Given the description of an element on the screen output the (x, y) to click on. 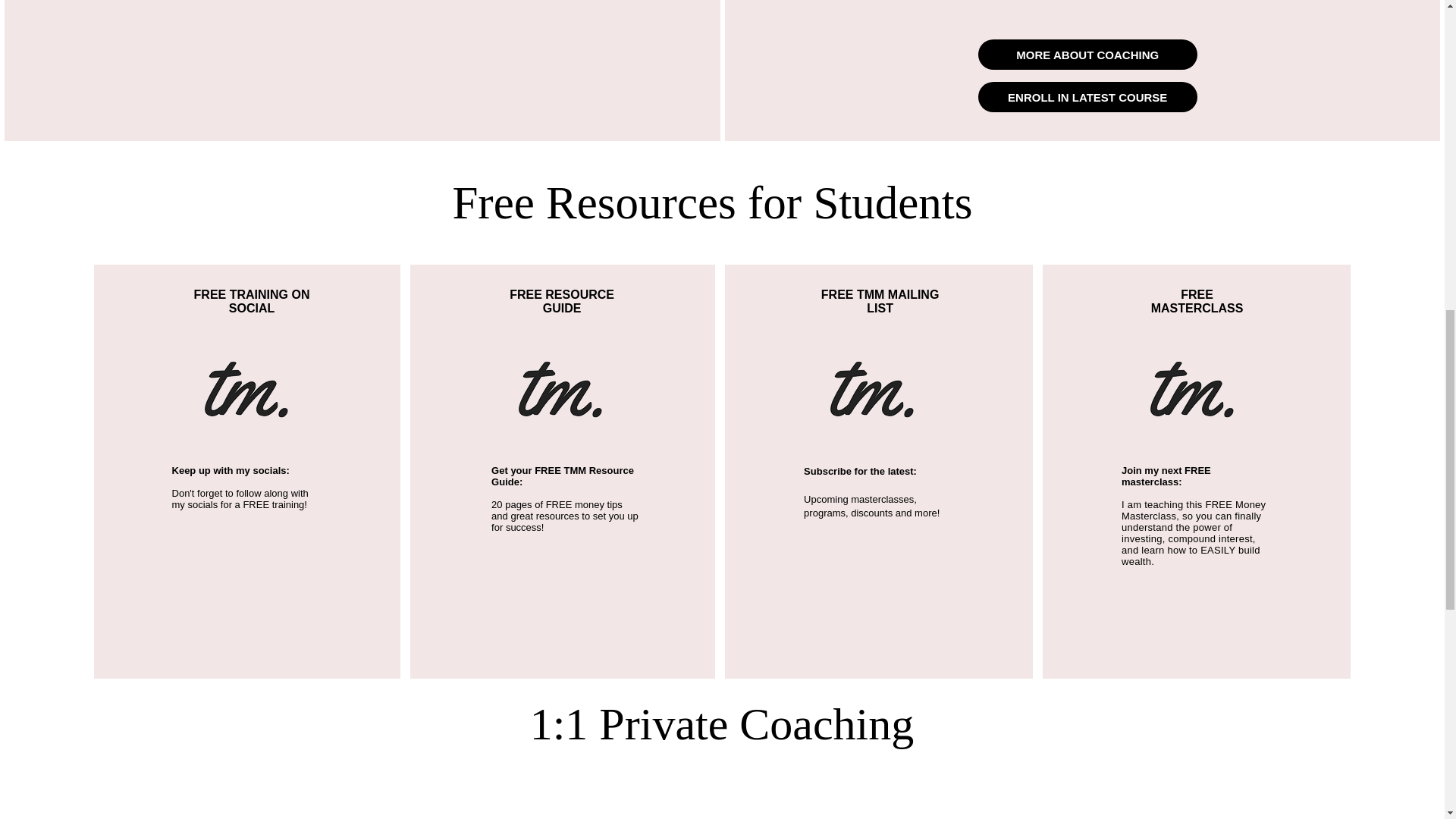
1:1 Private Coaching (721, 723)
ENROLL IN LATEST COURSE (1087, 96)
MORE ABOUT COACHING (1087, 54)
